Given the description of an element on the screen output the (x, y) to click on. 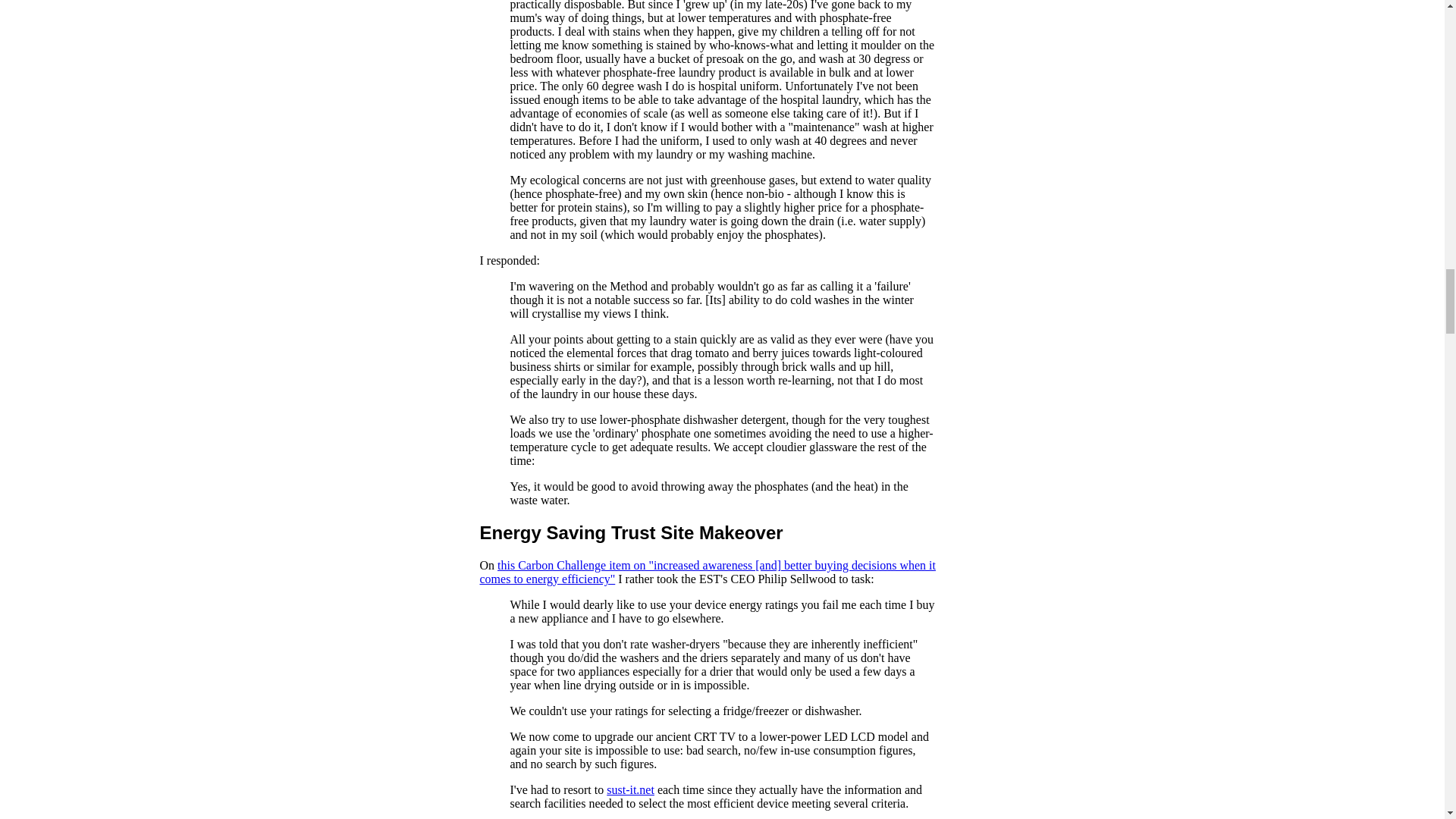
sust-it.net (630, 789)
